Given the description of an element on the screen output the (x, y) to click on. 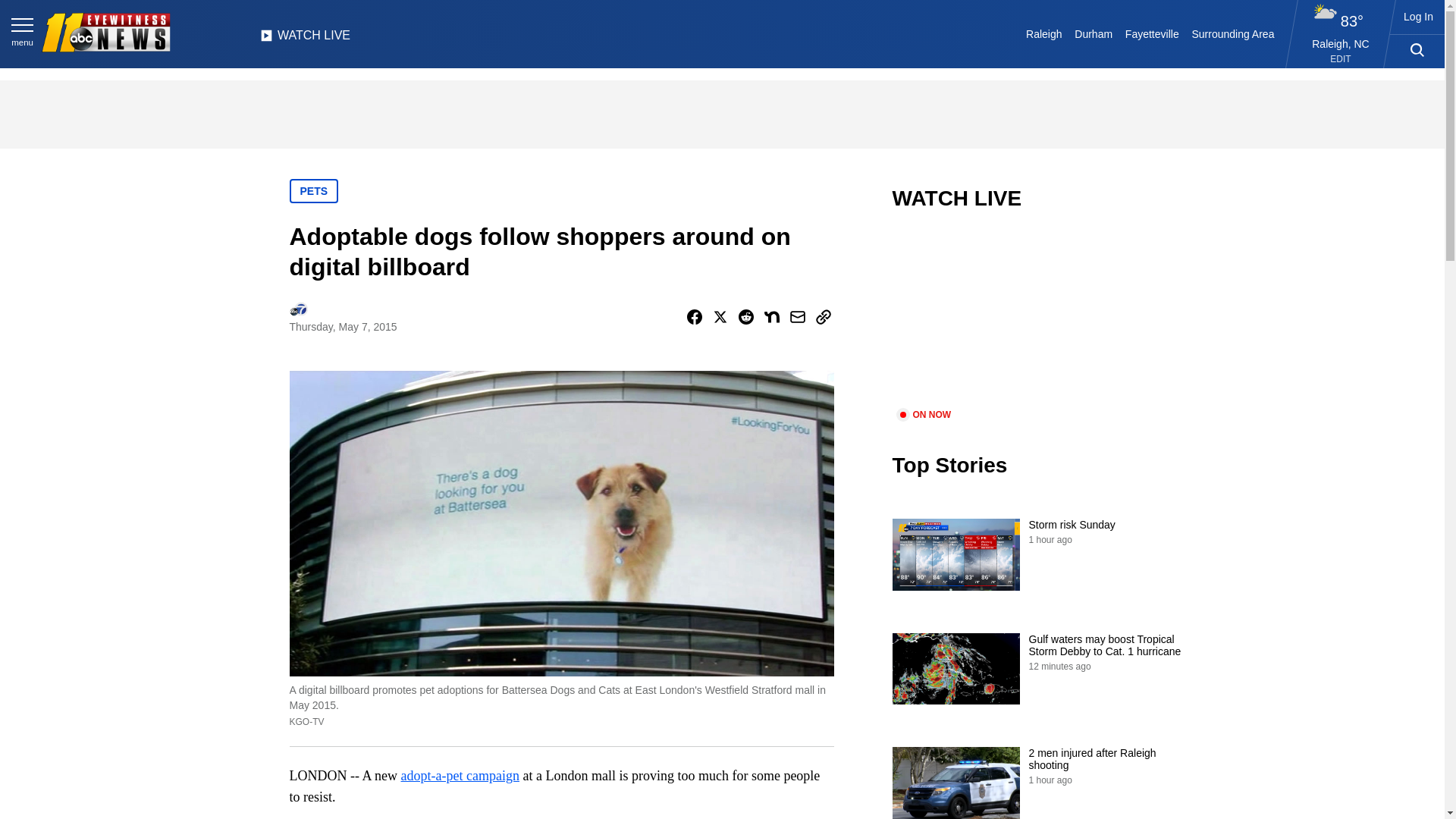
Surrounding Area (1233, 33)
video.title (1043, 318)
Fayetteville (1151, 33)
WATCH LIVE (305, 39)
Durham (1093, 33)
EDIT (1340, 59)
Raleigh, NC (1340, 43)
Raleigh (1044, 33)
